Given the description of an element on the screen output the (x, y) to click on. 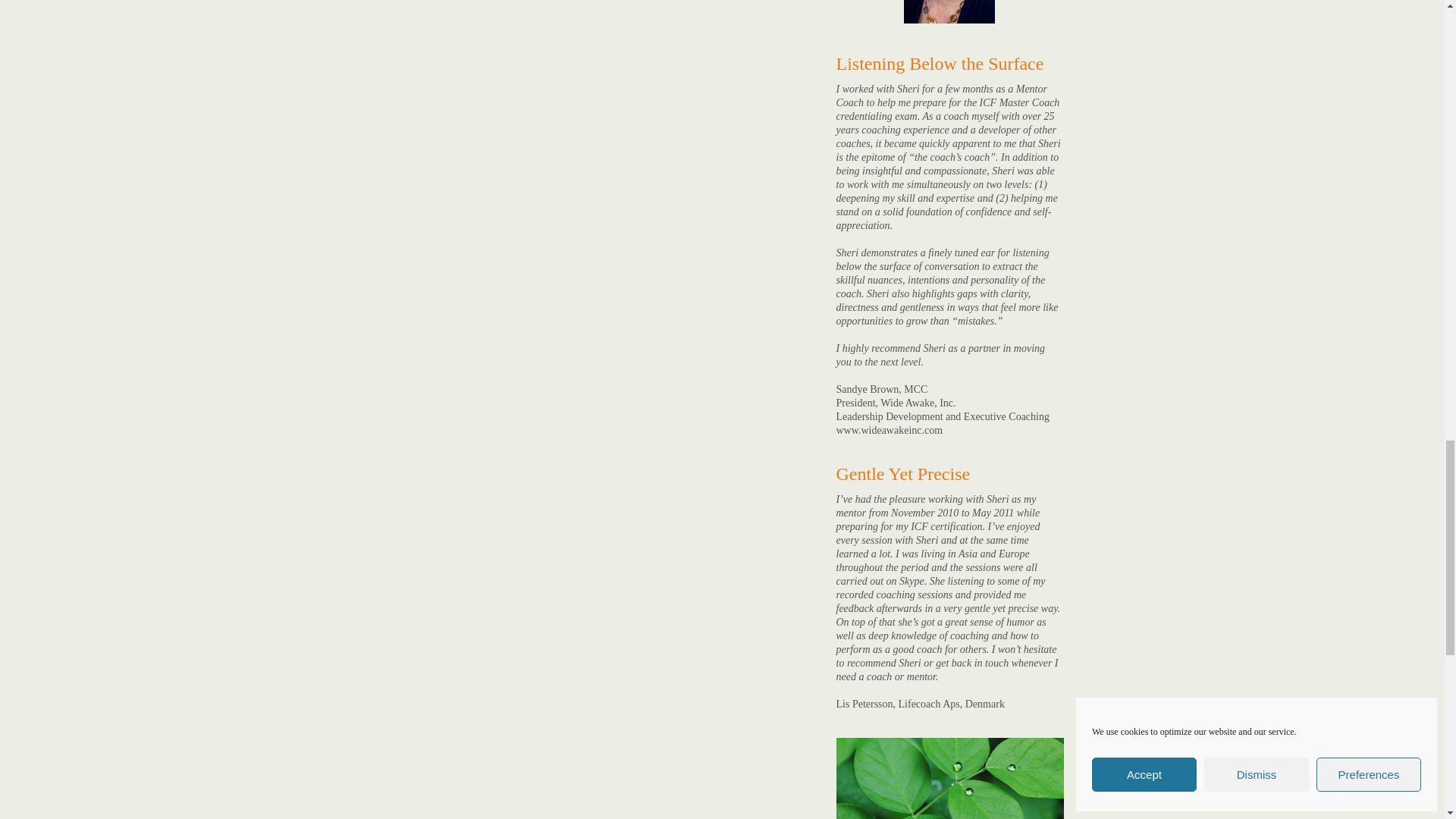
Sheri Boone (949, 11)
